Given the description of an element on the screen output the (x, y) to click on. 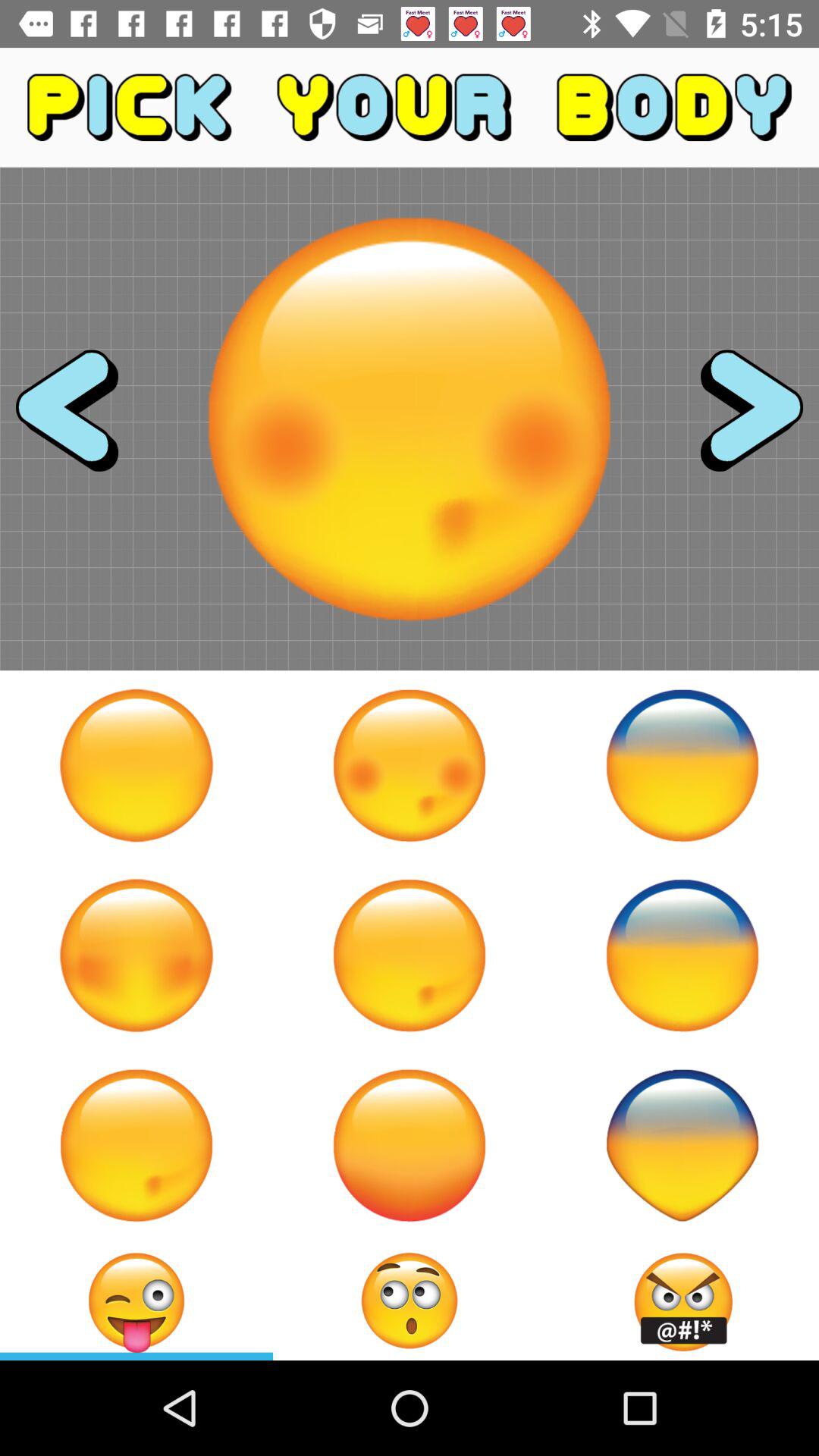
ball (136, 955)
